Given the description of an element on the screen output the (x, y) to click on. 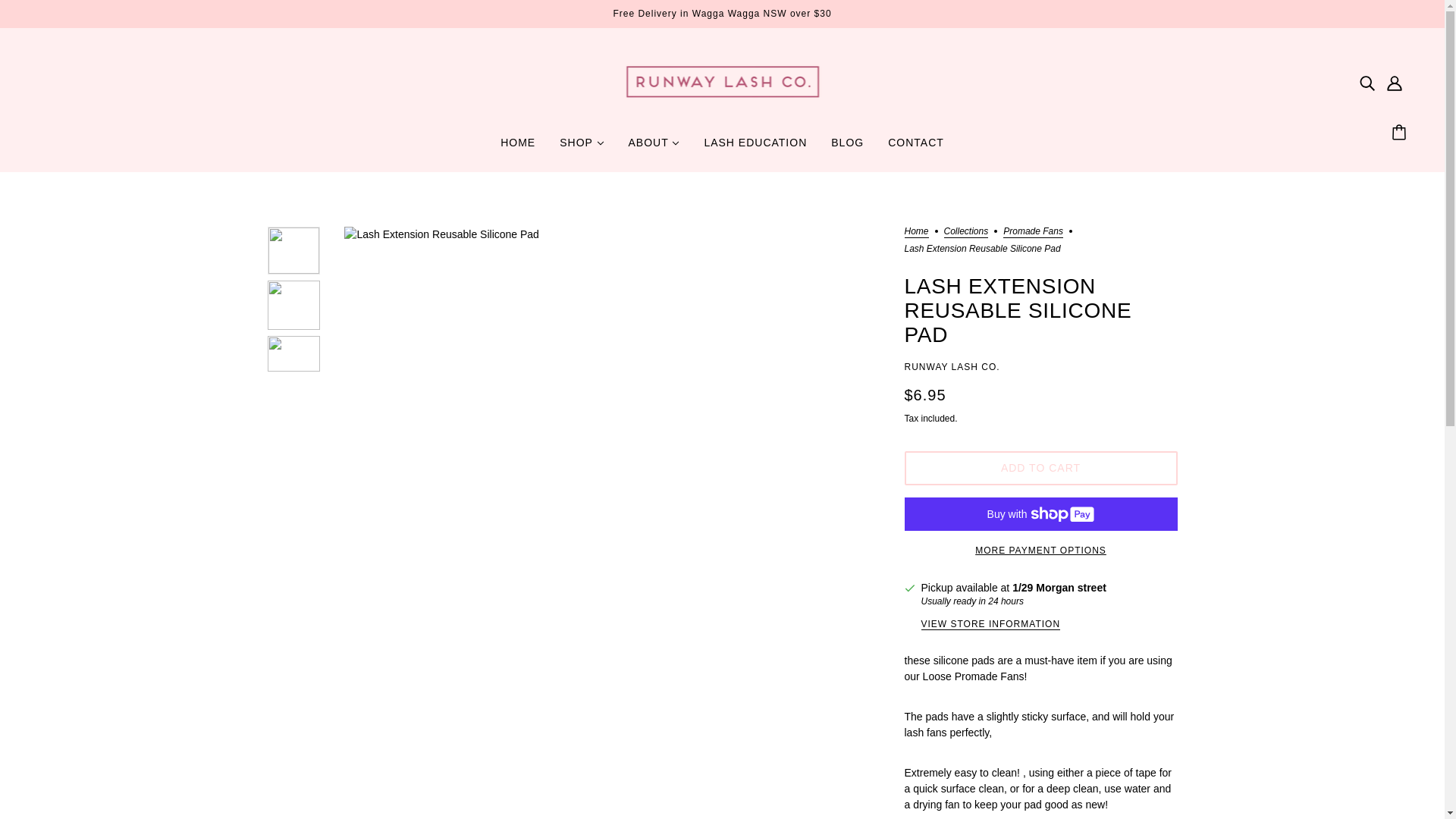
CONTACT (916, 148)
RUNWAY LASH CO. (951, 366)
VIEW STORE INFORMATION (989, 624)
LASH EDUCATION (754, 148)
Runway Lash Co. (722, 108)
Promade Fans (1032, 232)
ABOUT  (654, 148)
Home (916, 232)
ADD TO CART (1040, 468)
MORE PAYMENT OPTIONS (1040, 544)
BLOG (847, 148)
SHOP  (581, 148)
HOME (517, 148)
Collections (965, 232)
